Given the description of an element on the screen output the (x, y) to click on. 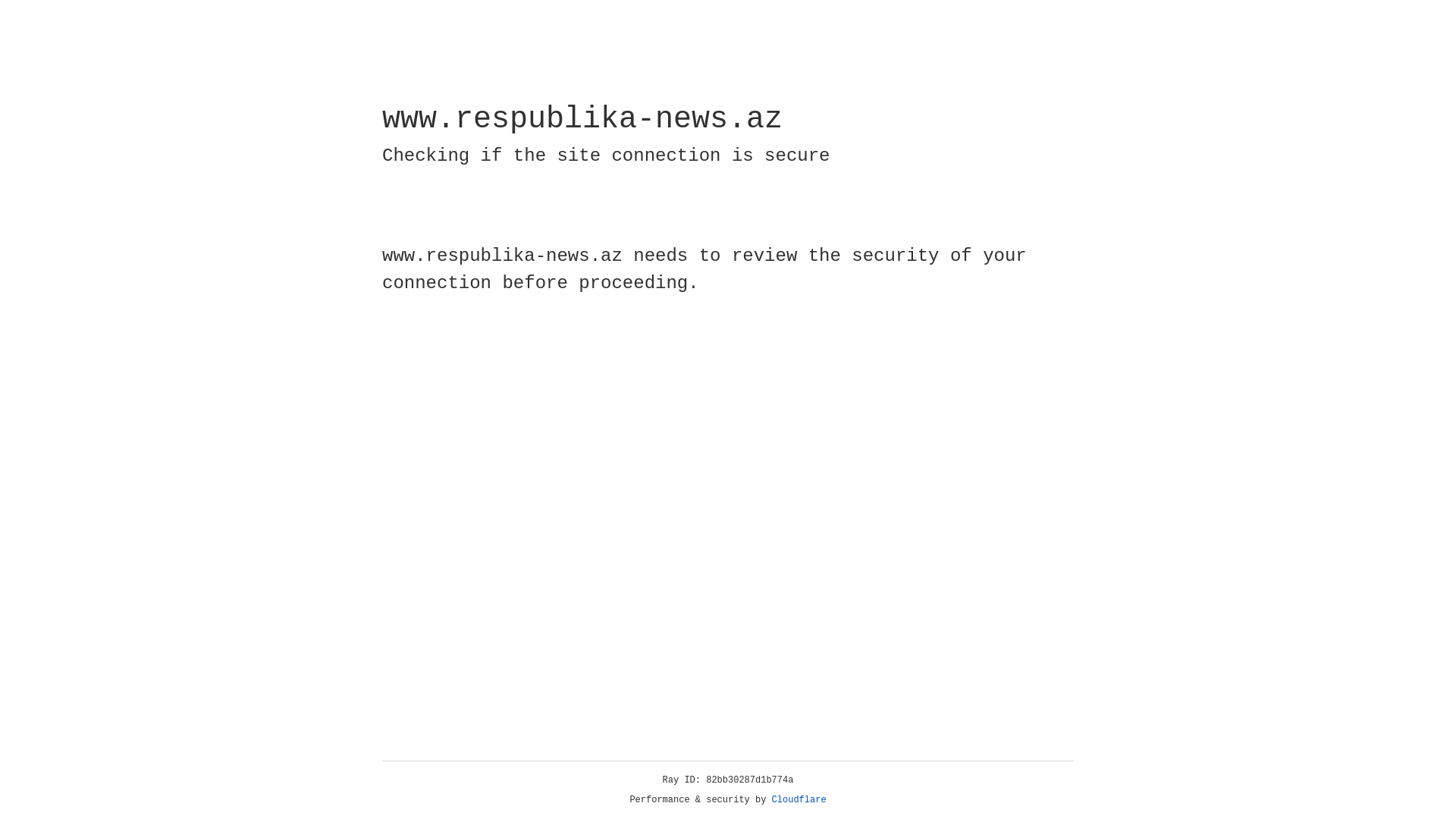
Cloudflare Element type: text (798, 799)
